Given the description of an element on the screen output the (x, y) to click on. 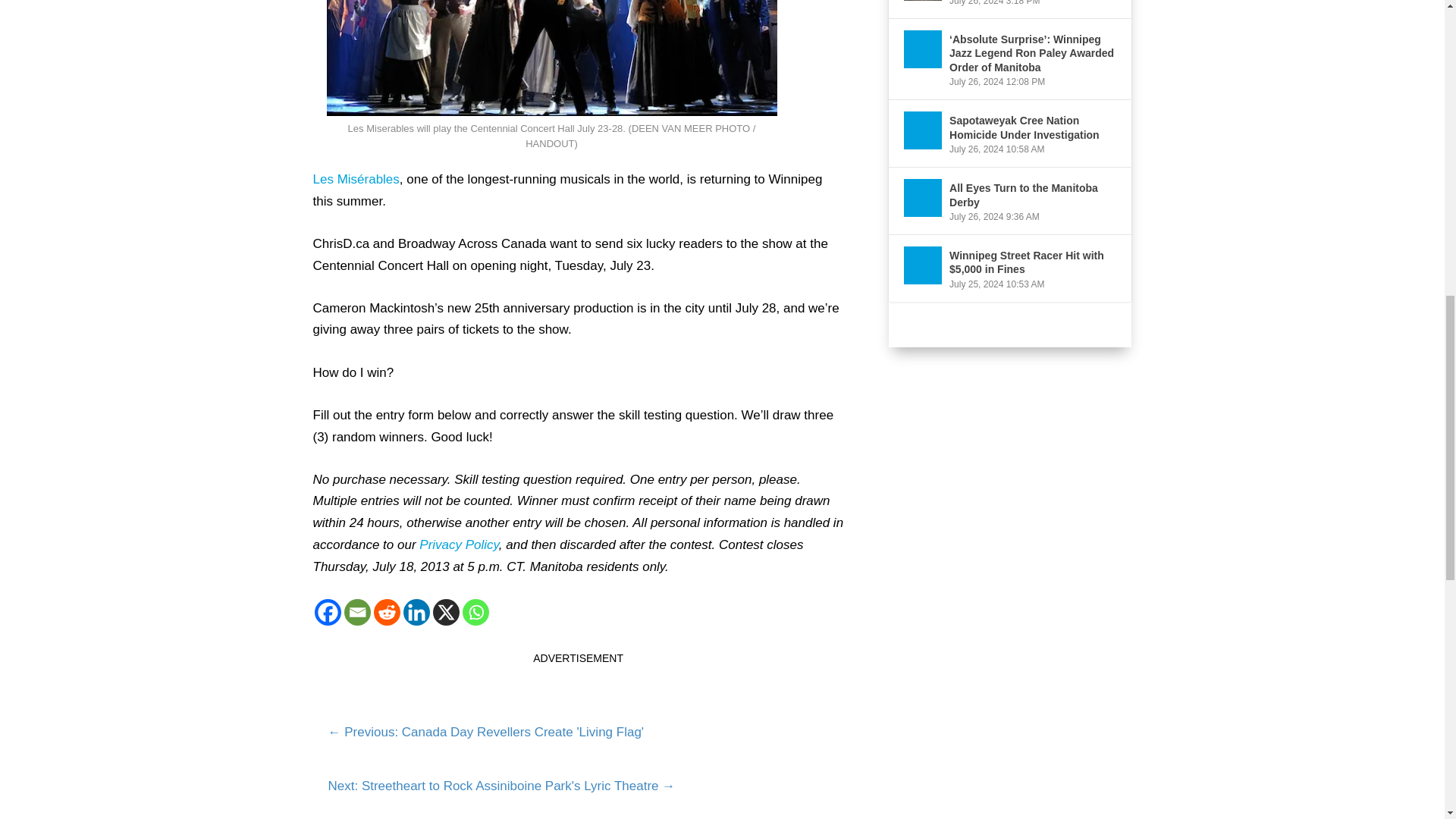
Linkedin (416, 611)
Whatsapp (476, 611)
Reddit (385, 611)
Facebook (327, 611)
Email (357, 611)
X (445, 611)
All Eyes Turn to the Manitoba Derby (923, 198)
Sapotaweyak Cree Nation Homicide Under Investigation (923, 130)
Privacy Policy (459, 544)
